Given the description of an element on the screen output the (x, y) to click on. 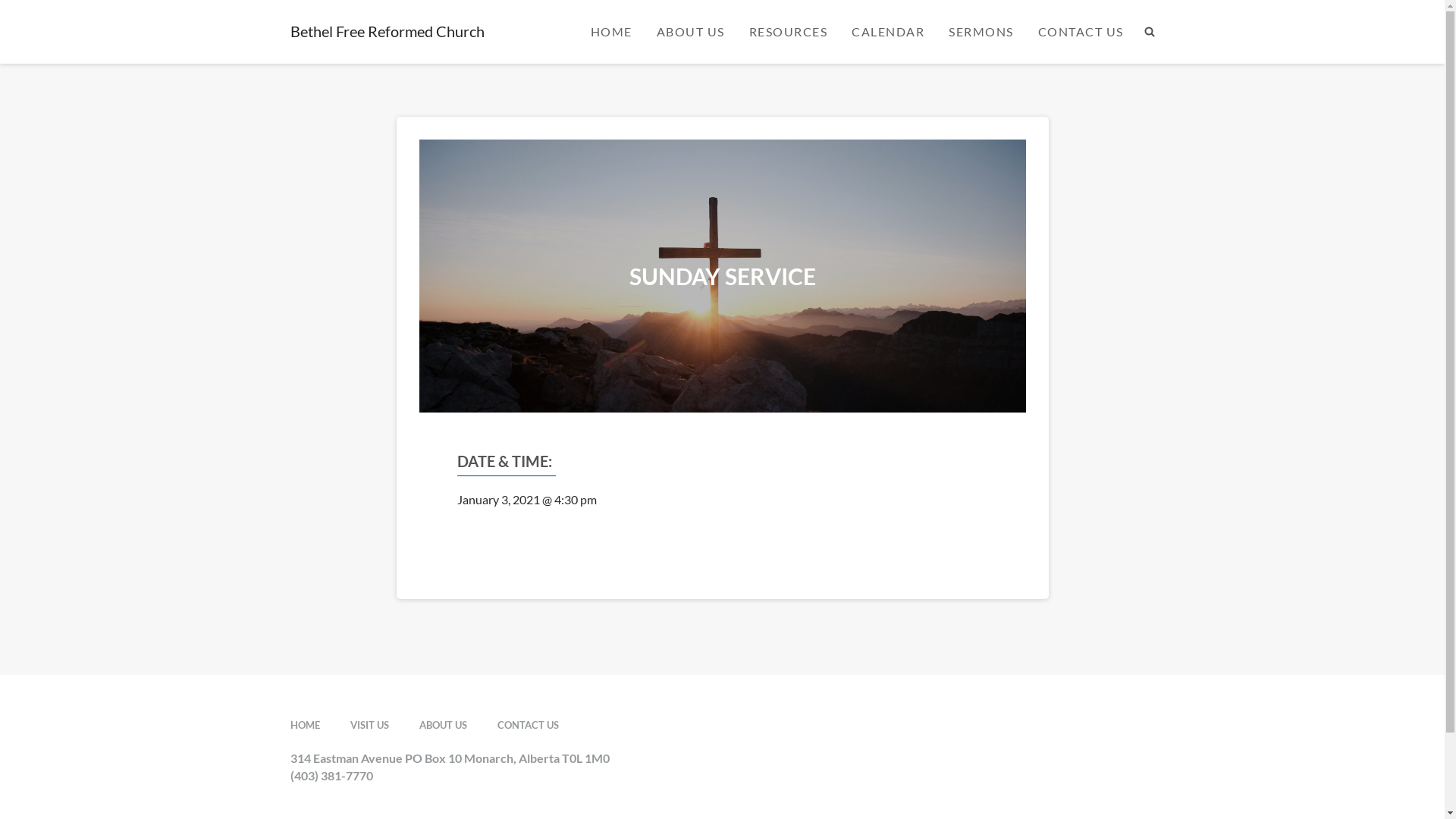
CONTACT US Element type: text (527, 724)
CONTACT US Element type: text (1080, 31)
ABOUT US Element type: text (690, 31)
SERMONS Element type: text (980, 31)
VISIT US Element type: text (369, 724)
ABOUT US Element type: text (442, 724)
CALENDAR Element type: text (887, 31)
RESOURCES Element type: text (788, 31)
Bethel Free Reformed Church Element type: text (386, 30)
HOME Element type: text (610, 31)
HOME Element type: text (304, 724)
